Given the description of an element on the screen output the (x, y) to click on. 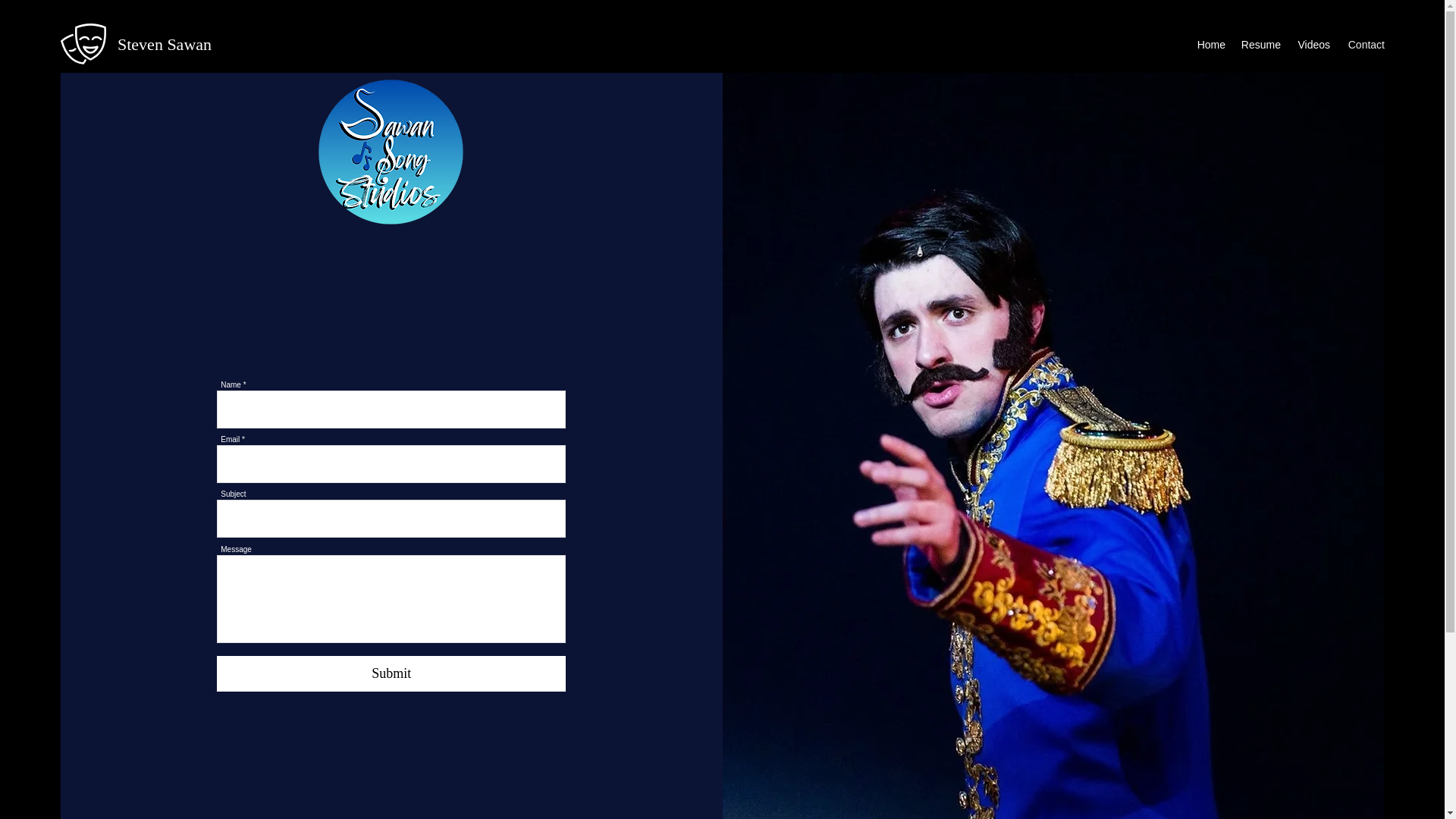
Resume (1260, 44)
Home (1210, 44)
Submit (391, 673)
Steven Sawan (164, 44)
Contact (1364, 44)
Videos (1313, 44)
